Given the description of an element on the screen output the (x, y) to click on. 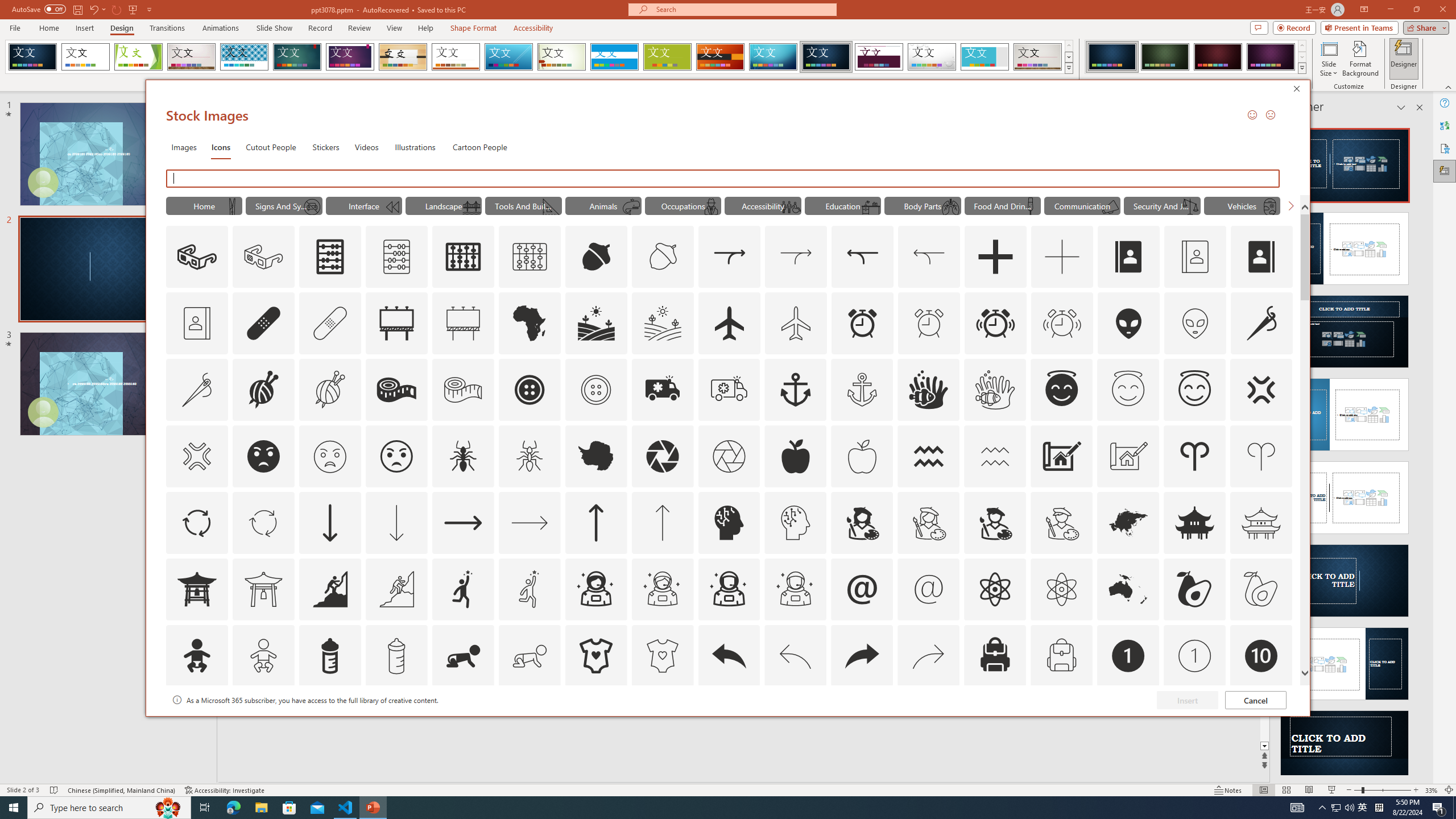
AutomationID: Icons_Atom (995, 588)
Cartoon People (479, 146)
AutomationID: Icons_BabyOnesie_M (662, 655)
AutomationID: Icons_AdhesiveBandage (263, 323)
Damask Variant 4 (1270, 56)
AutomationID: Icons_Badge10 (1260, 655)
"Occupations" Icons. (682, 205)
AutomationID: Icons_Acorn_M (663, 256)
AutomationID: Icons_3dGlasses (197, 256)
